Given the description of an element on the screen output the (x, y) to click on. 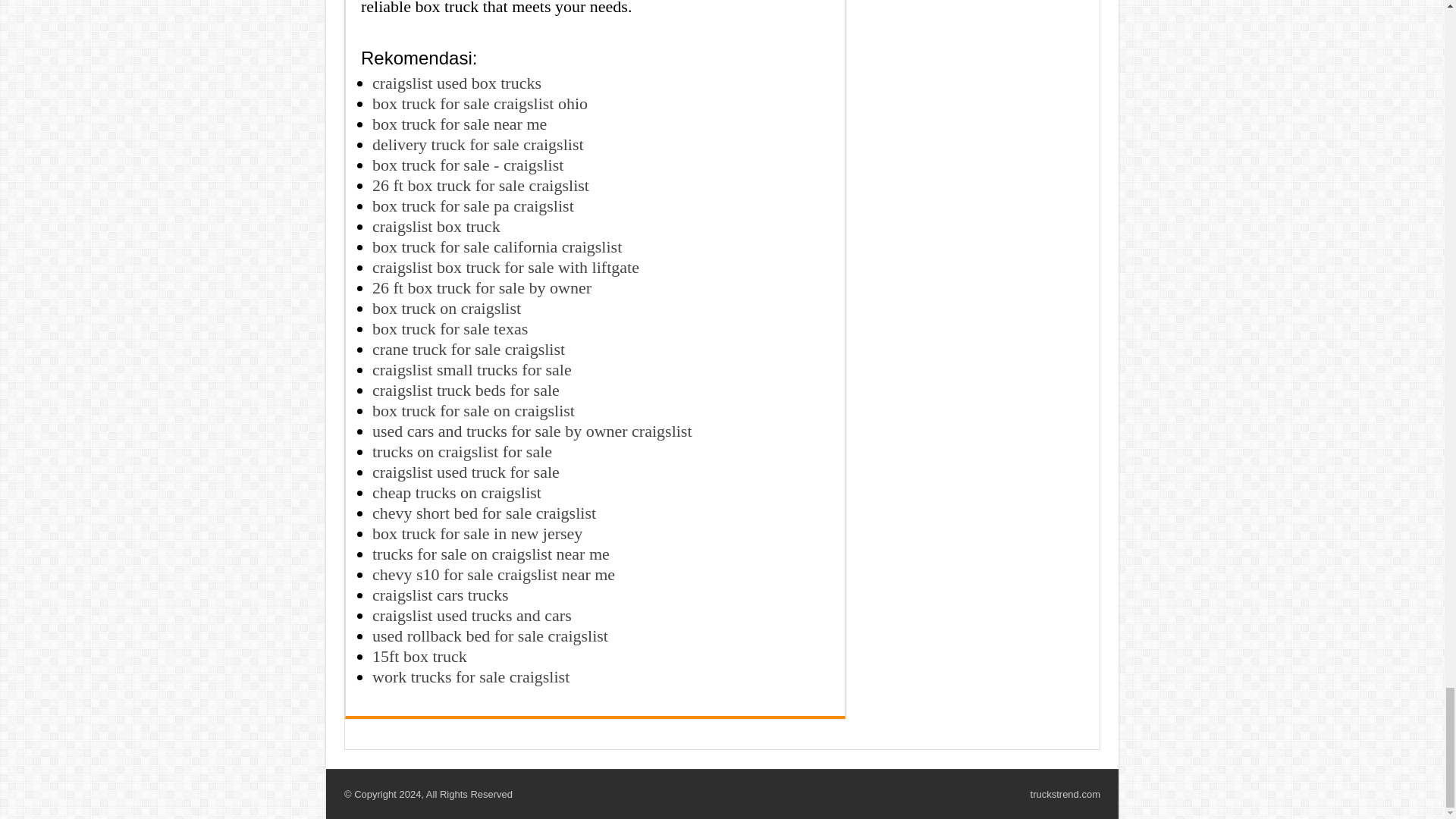
26 ft box truck for sale craigslist (480, 185)
box truck for sale near me (459, 123)
box truck for sale pa craigslist (472, 205)
delivery truck for sale craigslist (477, 144)
box truck for sale - craigslist (467, 164)
26 ft box truck for sale by owner (481, 287)
box truck for sale texas (449, 328)
box truck for sale california craigslist (496, 246)
craigslist box truck (436, 226)
craigslist box truck for sale with liftgate (505, 266)
